Given the description of an element on the screen output the (x, y) to click on. 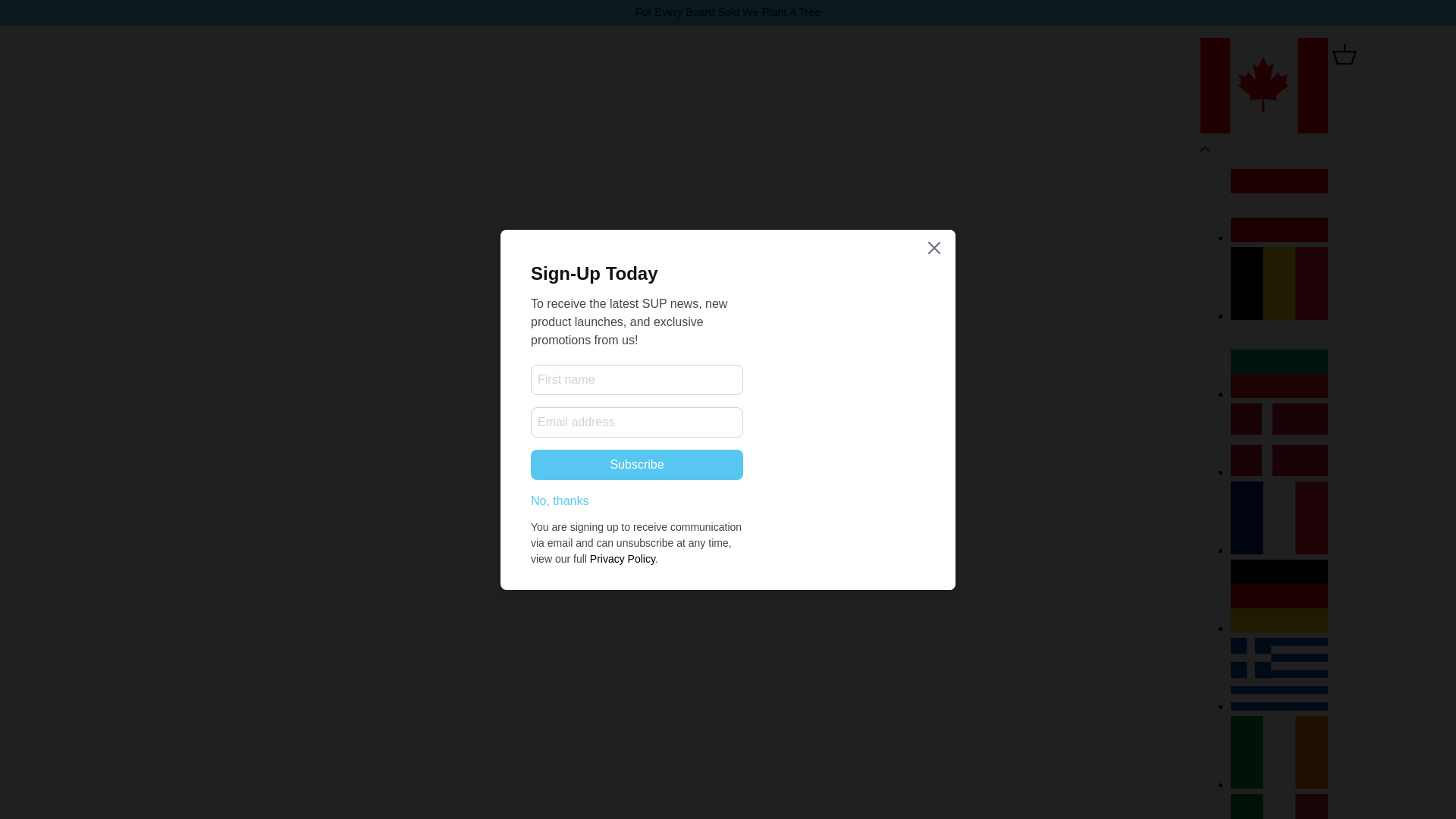
Opens a widget where you can find more information (1398, 792)
Accept All (789, 457)
Learn more (779, 418)
Basket (1344, 54)
Preferences (666, 457)
SKIP TO CONTENT (68, 21)
